Given the description of an element on the screen output the (x, y) to click on. 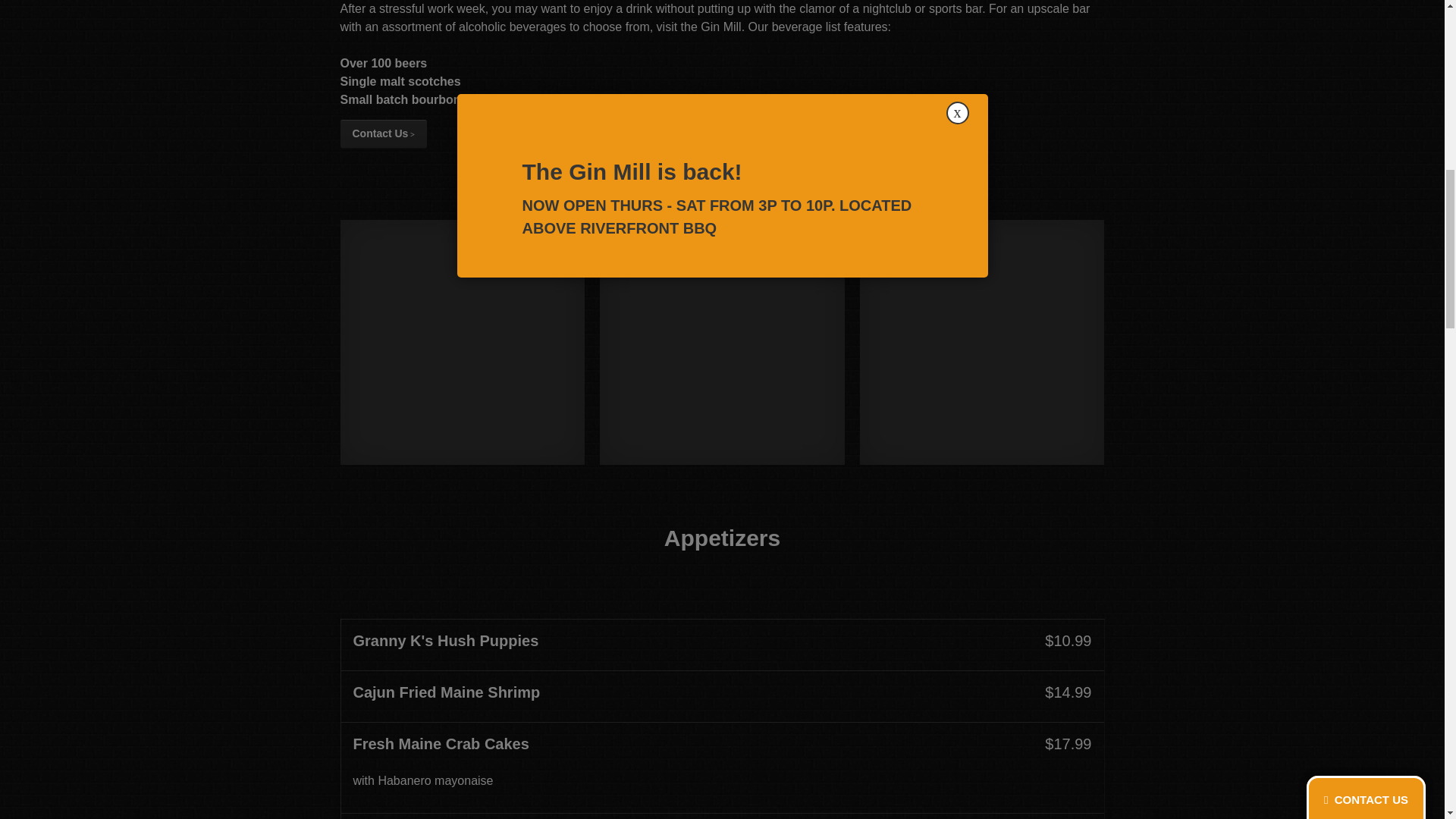
Contact Us (382, 133)
